Given the description of an element on the screen output the (x, y) to click on. 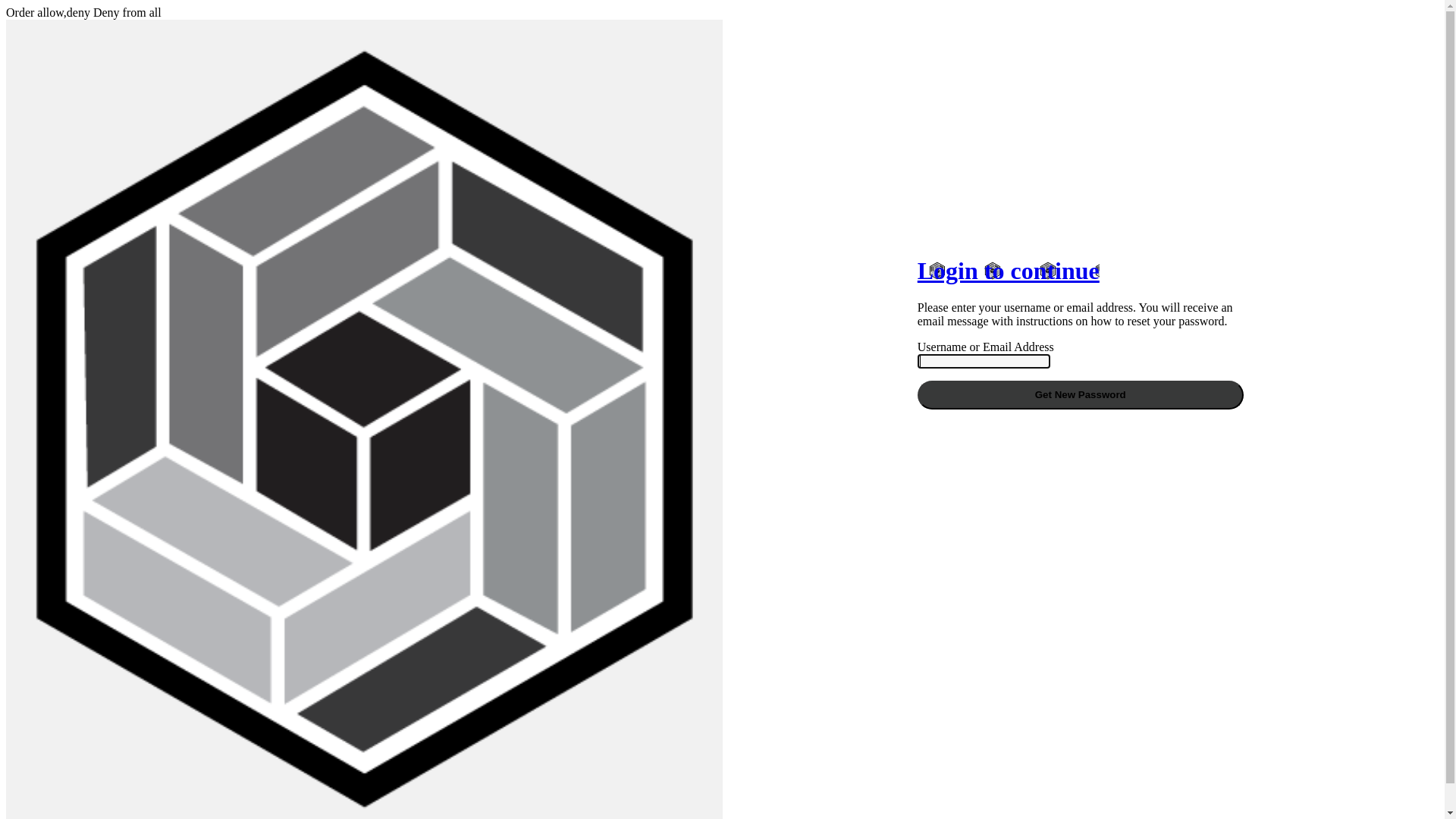
Get New Password Element type: text (1080, 394)
Login to continue Element type: text (1008, 269)
